Given the description of an element on the screen output the (x, y) to click on. 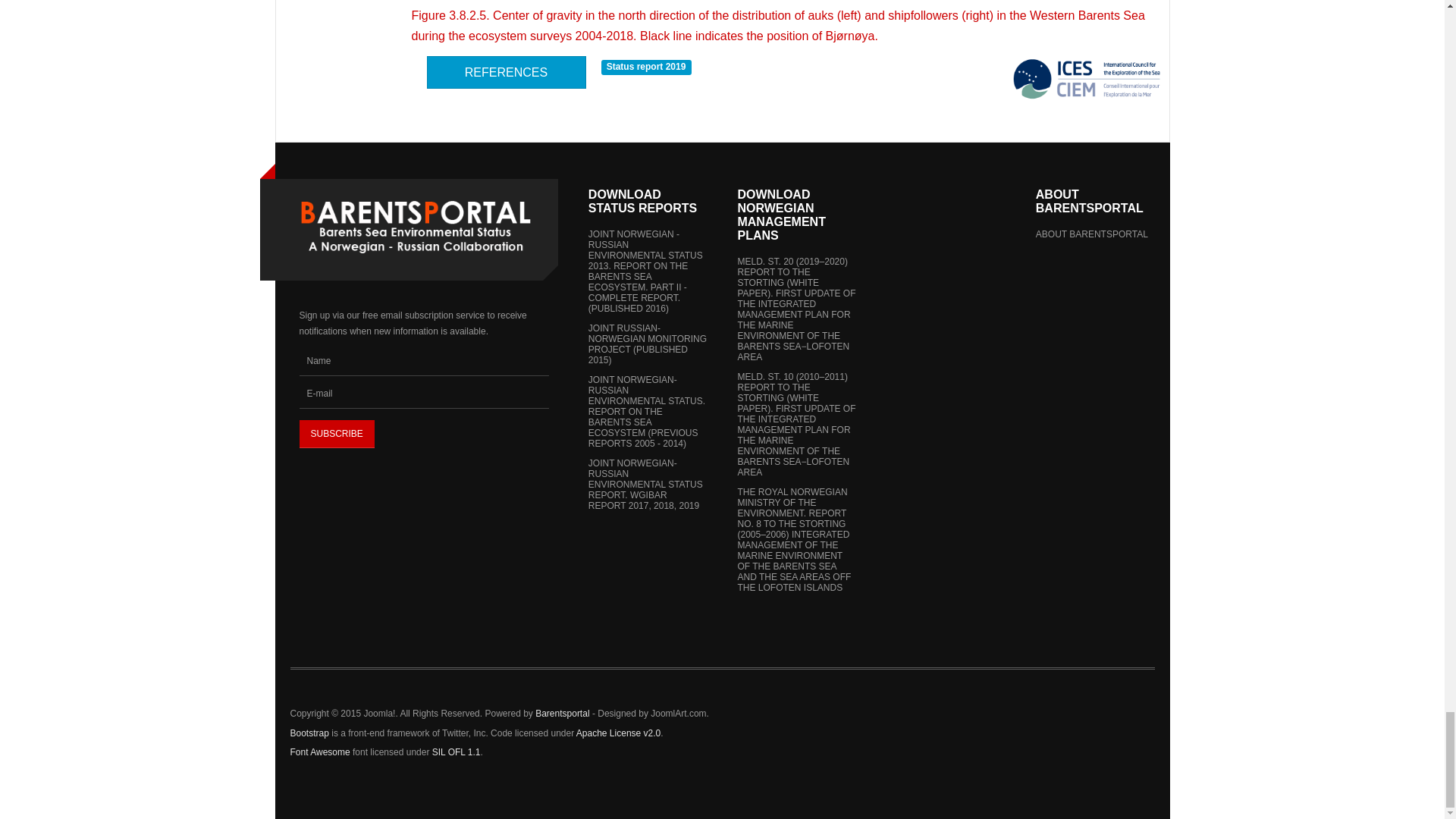
E-mail (423, 394)
Subscribe (336, 434)
Name (423, 361)
